Given the description of an element on the screen output the (x, y) to click on. 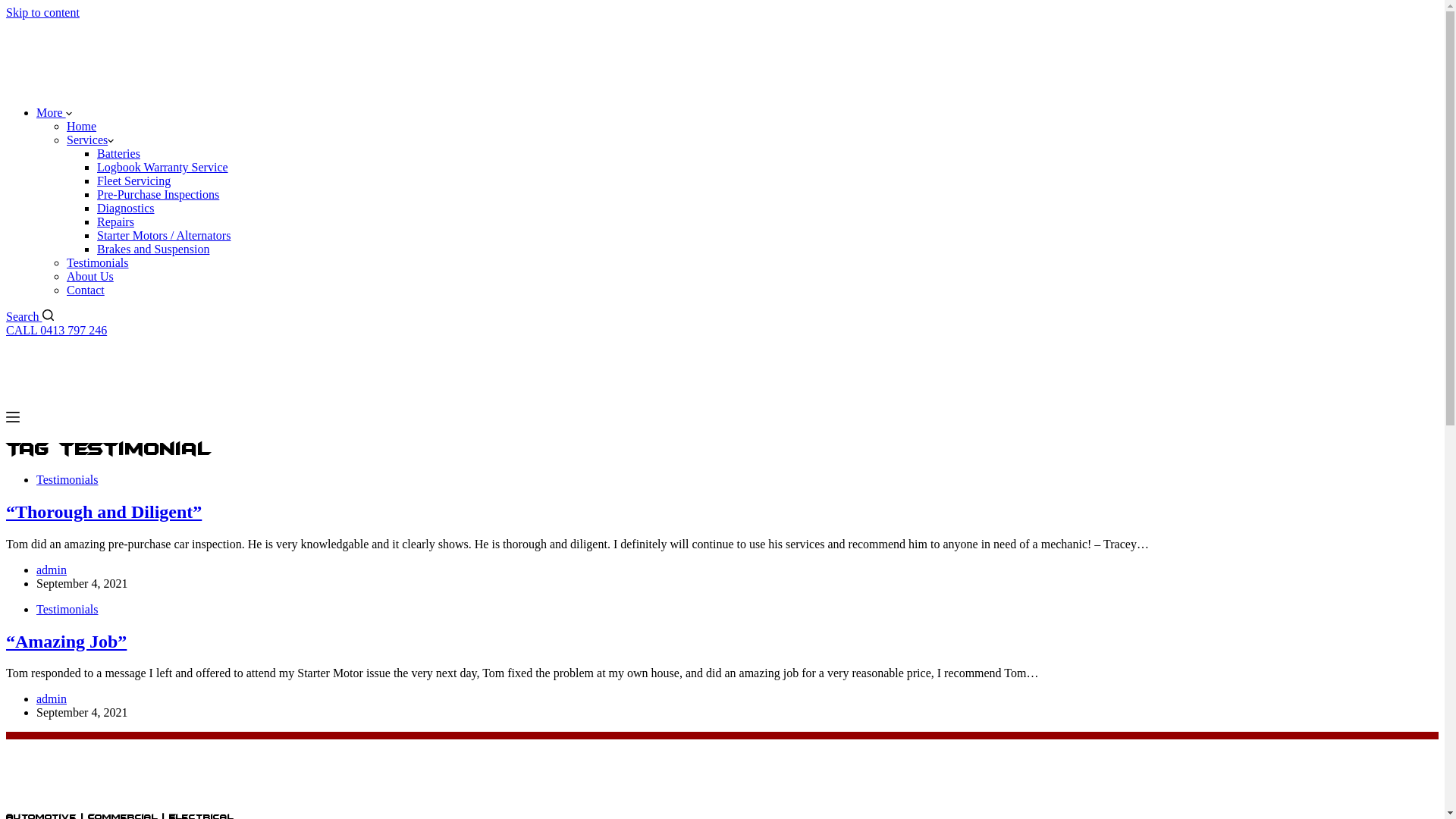
Testimonials Element type: text (67, 608)
Contact Element type: text (85, 289)
Skip to content Element type: text (42, 12)
CALL 0413 797 246 Element type: text (56, 329)
admin Element type: text (51, 698)
Services Element type: text (89, 139)
About Us Element type: text (89, 275)
More Element type: text (54, 112)
Batteries Element type: text (118, 153)
Brakes and Suspension Element type: text (153, 248)
Logbook Warranty Service Element type: text (162, 166)
Pre-Purchase Inspections Element type: text (158, 194)
Repairs Element type: text (115, 221)
admin Element type: text (51, 569)
Starter Motors / Alternators Element type: text (163, 235)
Testimonials Element type: text (67, 479)
Home Element type: text (81, 125)
Fleet Servicing Element type: text (133, 180)
Diagnostics Element type: text (125, 207)
Testimonials Element type: text (97, 262)
Search Element type: text (29, 316)
